Given the description of an element on the screen output the (x, y) to click on. 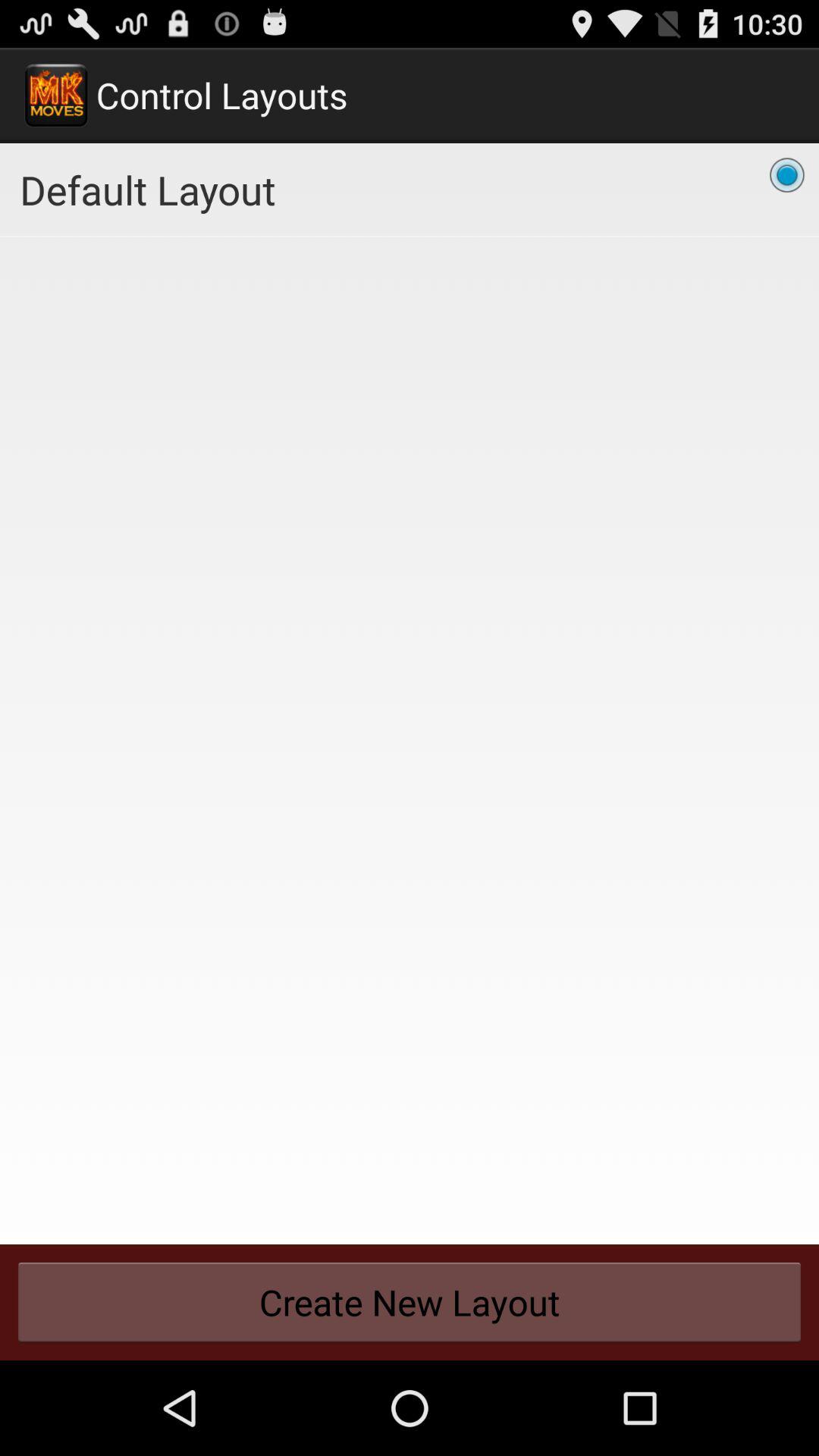
scroll until the create new layout button (409, 1302)
